Given the description of an element on the screen output the (x, y) to click on. 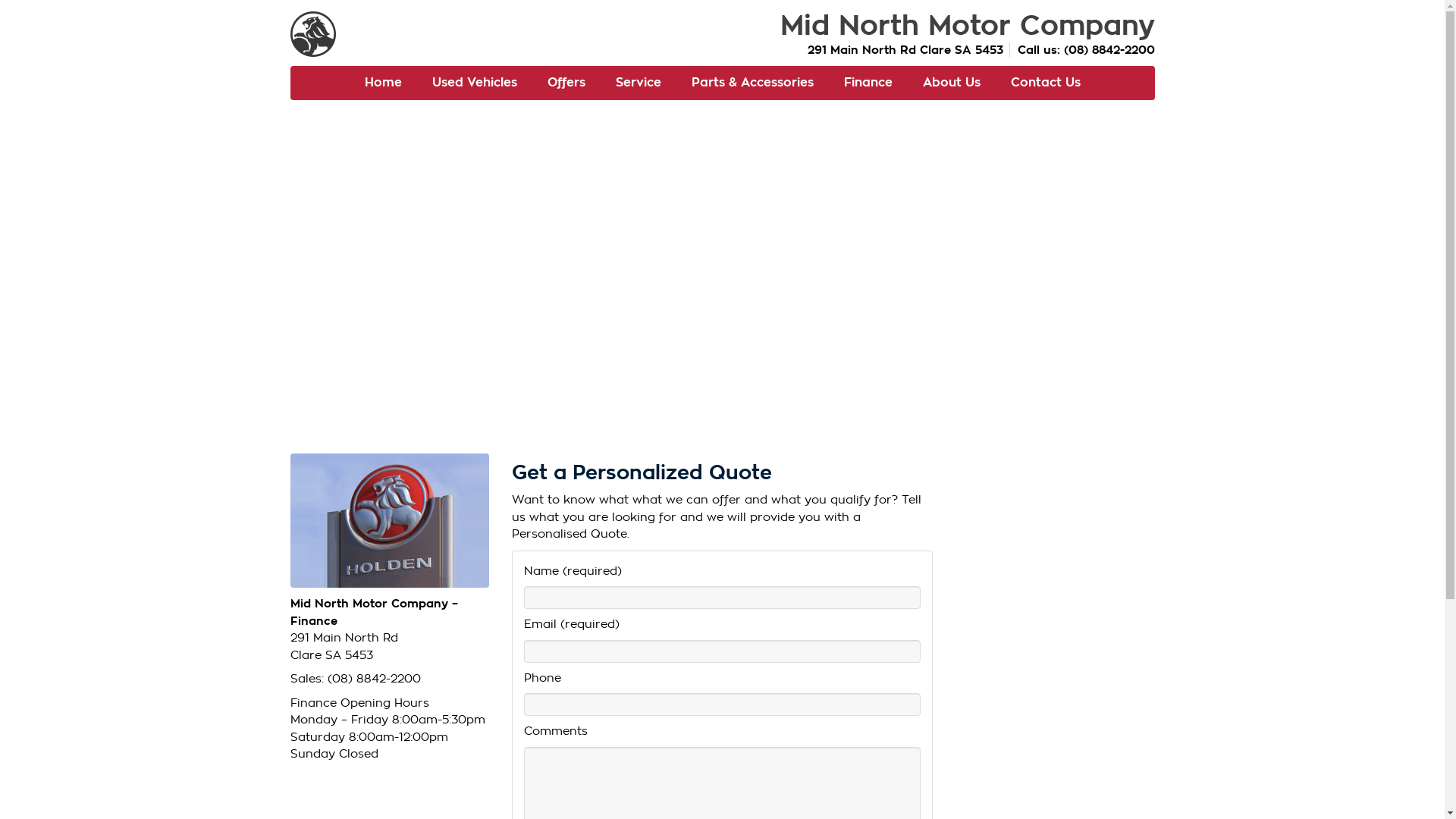
Service Element type: text (638, 82)
(08) 8842-2200 Element type: text (1108, 49)
Used Vehicles Element type: text (474, 82)
Home Element type: text (382, 82)
Parts & Accessories Element type: text (752, 82)
Finance Element type: text (867, 82)
Offers Element type: text (566, 82)
About Us Element type: text (950, 82)
Contact Us Element type: text (1044, 82)
(08) 8842-2200 Element type: text (373, 678)
